Given the description of an element on the screen output the (x, y) to click on. 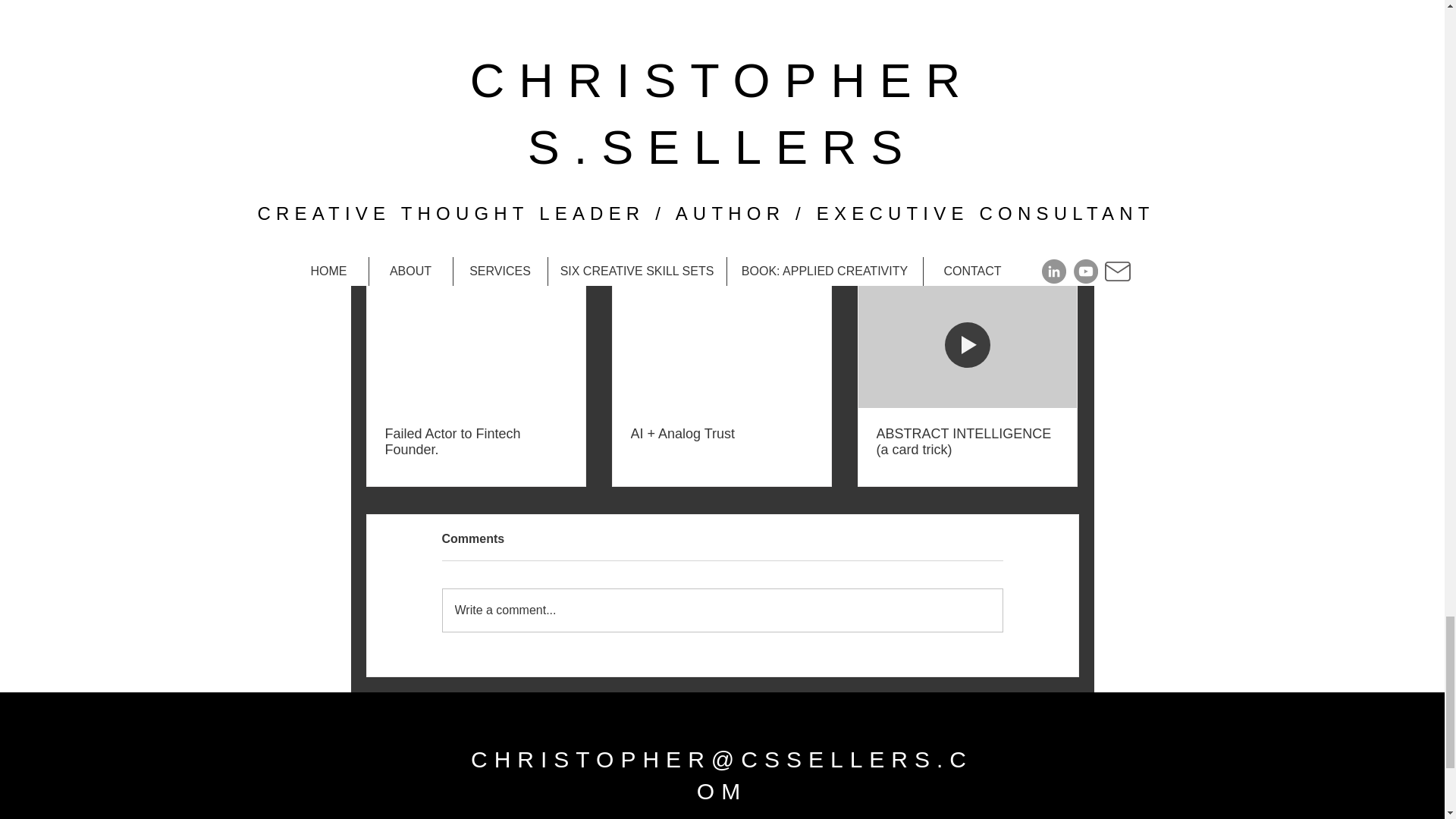
See All (1061, 258)
Failed Actor to Fintech Founder. (476, 441)
Black Bulb Creative (806, 85)
Write a comment... (722, 609)
